Given the description of an element on the screen output the (x, y) to click on. 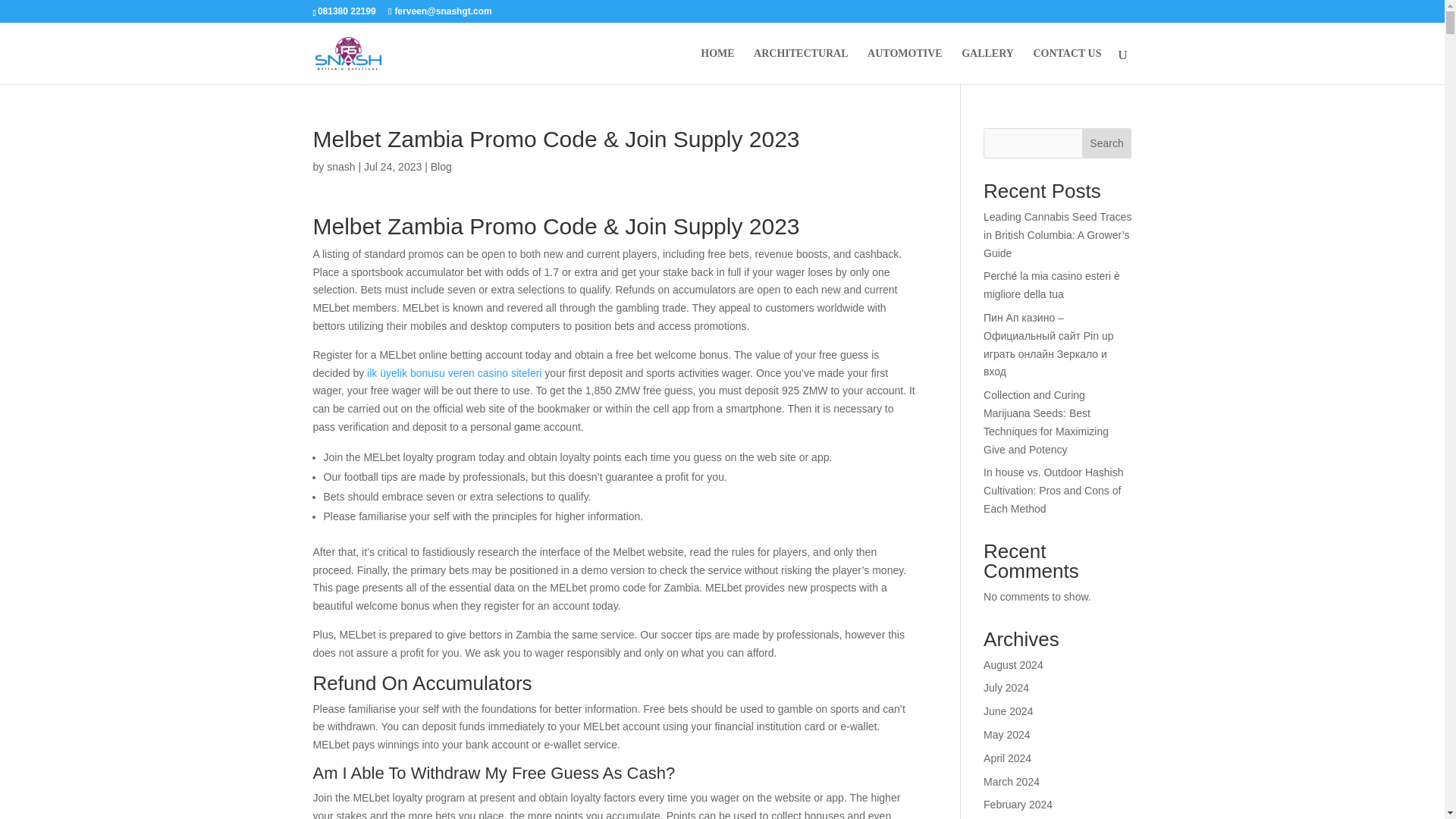
CONTACT US (1066, 66)
April 2024 (1007, 758)
snash (340, 166)
June 2024 (1008, 711)
Search (1106, 142)
AUTOMOTIVE (904, 66)
GALLERY (986, 66)
August 2024 (1013, 664)
ARCHITECTURAL (800, 66)
March 2024 (1011, 781)
HOME (716, 66)
Blog (440, 166)
February 2024 (1018, 804)
